Given the description of an element on the screen output the (x, y) to click on. 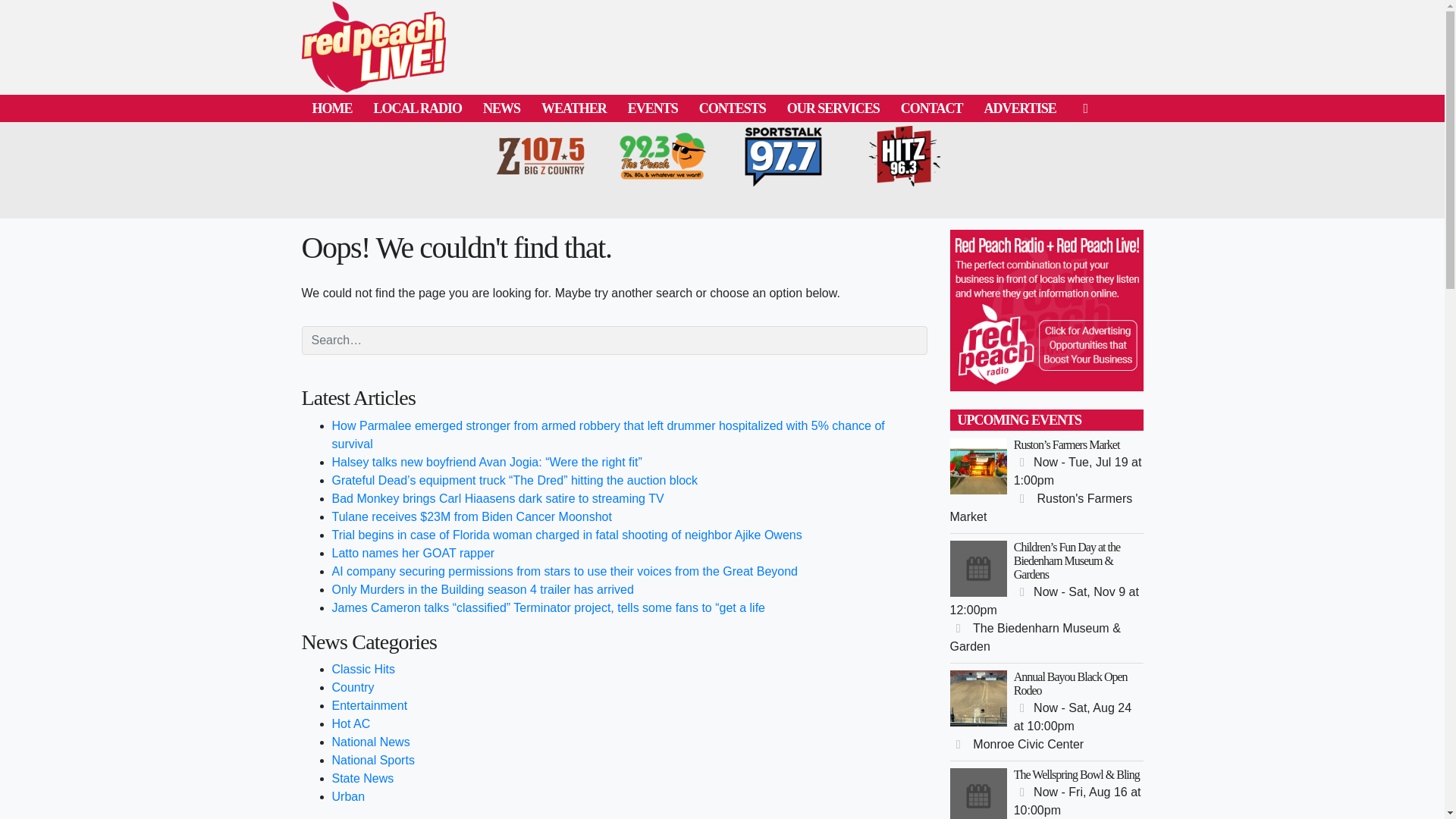
Bad Monkey brings Carl Hiaasens dark satire to streaming TV (497, 498)
Latto names her GOAT rapper (413, 553)
Only Murders in the Building season 4 trailer has arrived (482, 589)
